Given the description of an element on the screen output the (x, y) to click on. 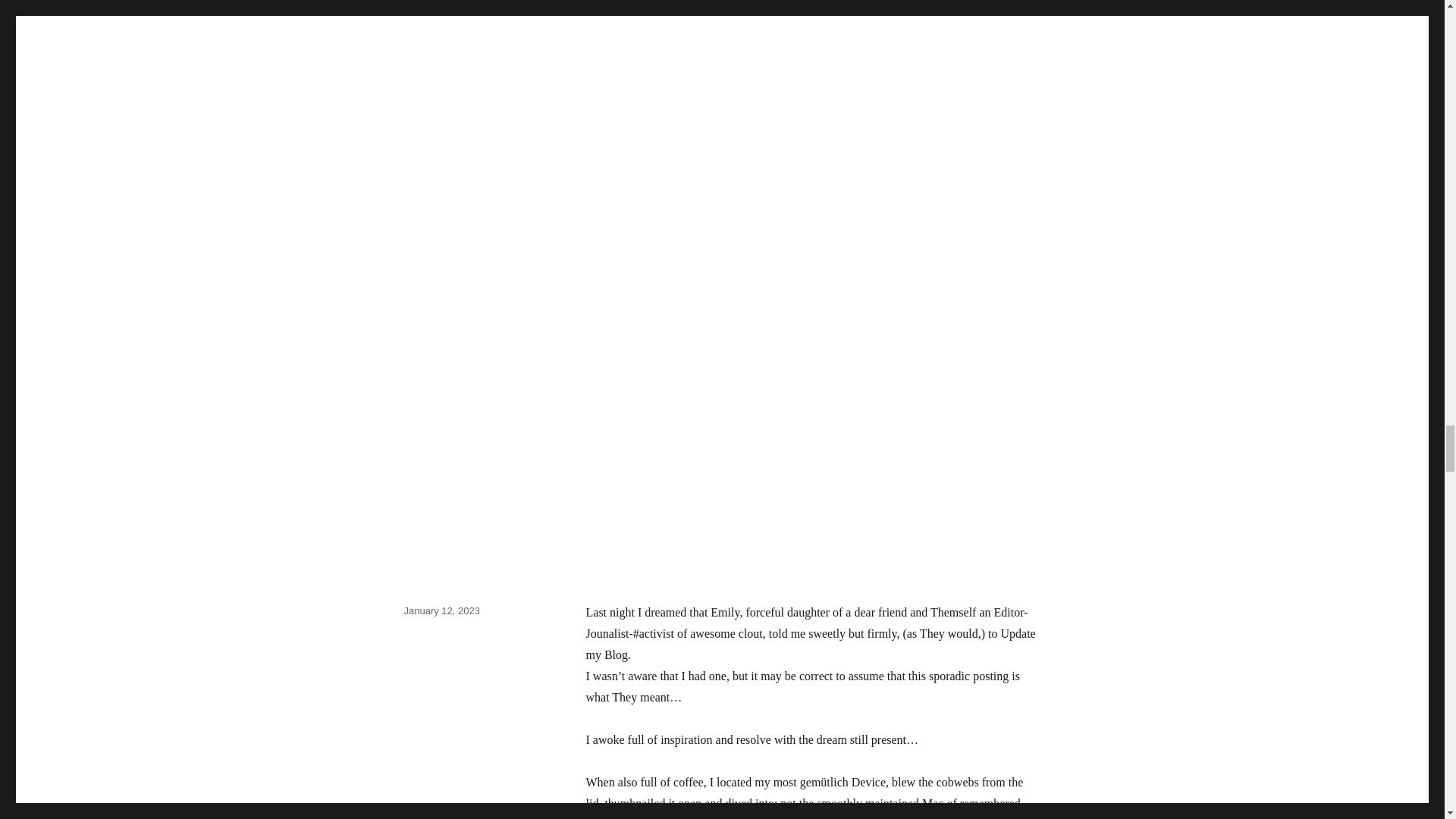
January 12, 2023 (441, 610)
